Given the description of an element on the screen output the (x, y) to click on. 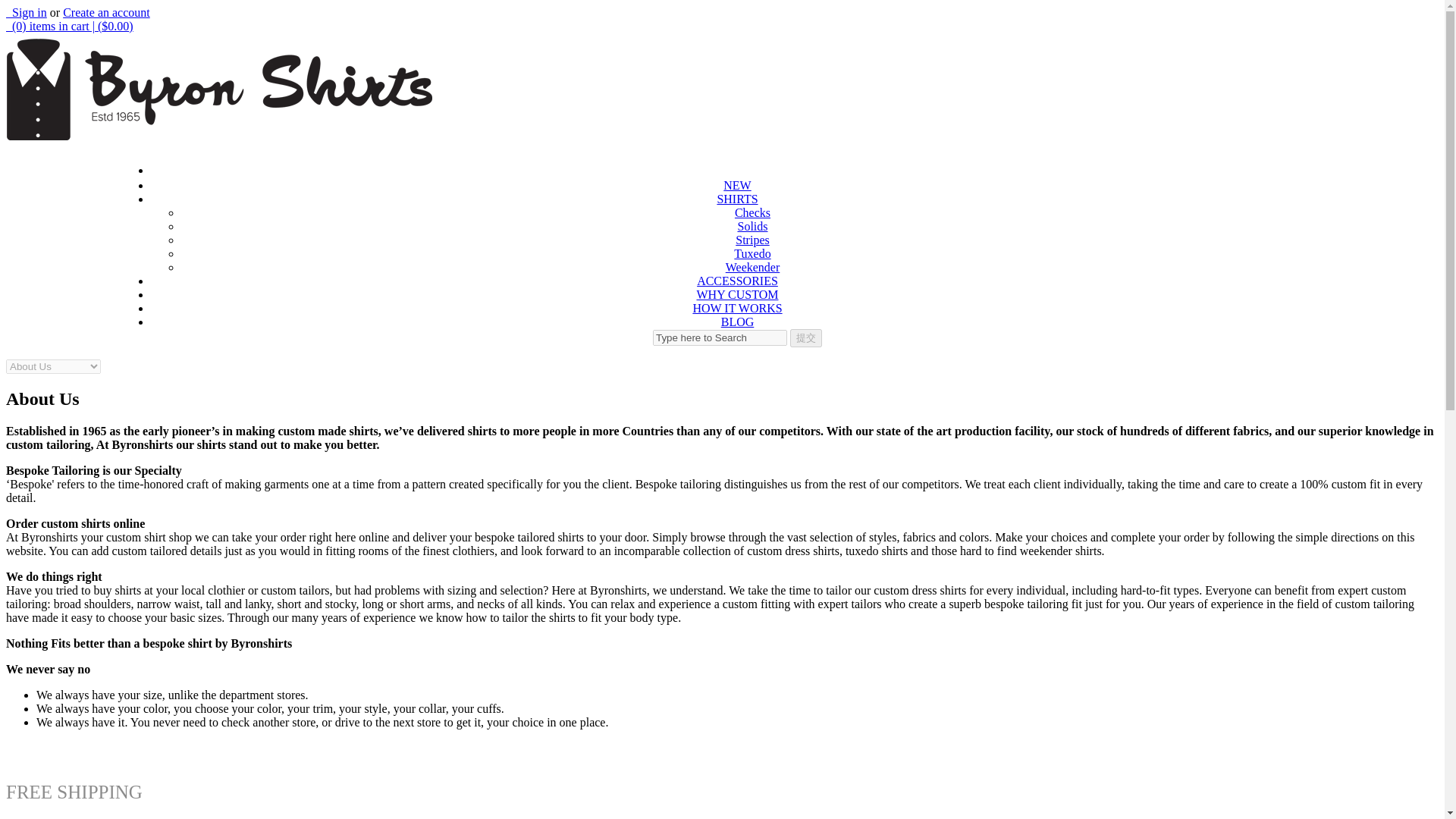
Create an account (105, 11)
Stripes (751, 239)
BLOG (737, 321)
  Sign in (25, 11)
HOW IT WORKS (737, 308)
Weekender (752, 267)
SHIRTS (736, 198)
ACCESSORIES (737, 280)
Solids (751, 226)
Checks (752, 212)
NEW (737, 185)
Type here to Search (719, 337)
Tuxedo (751, 253)
WHY CUSTOM (736, 294)
